Given the description of an element on the screen output the (x, y) to click on. 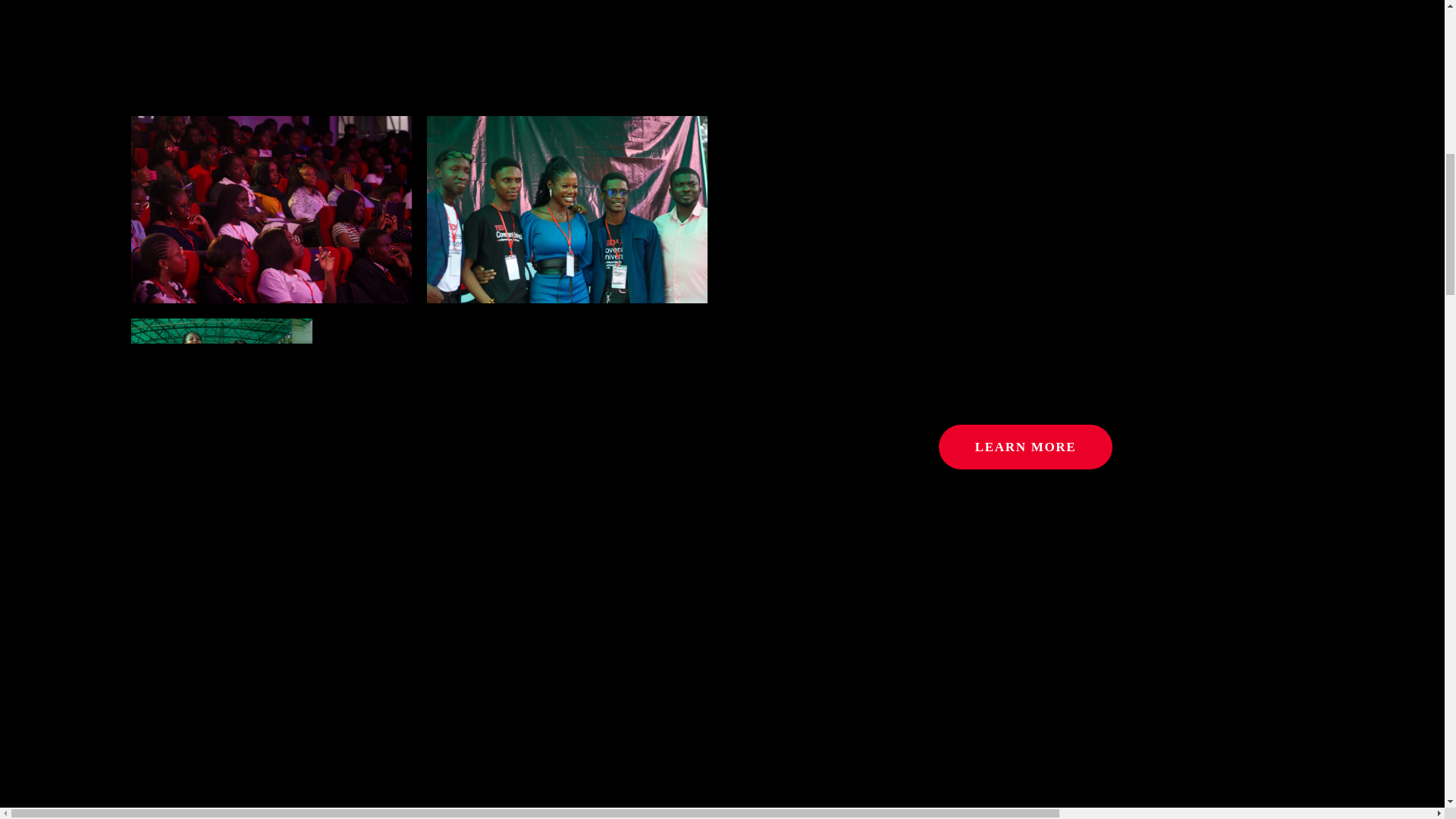
LEARN MORE (1025, 447)
